Given the description of an element on the screen output the (x, y) to click on. 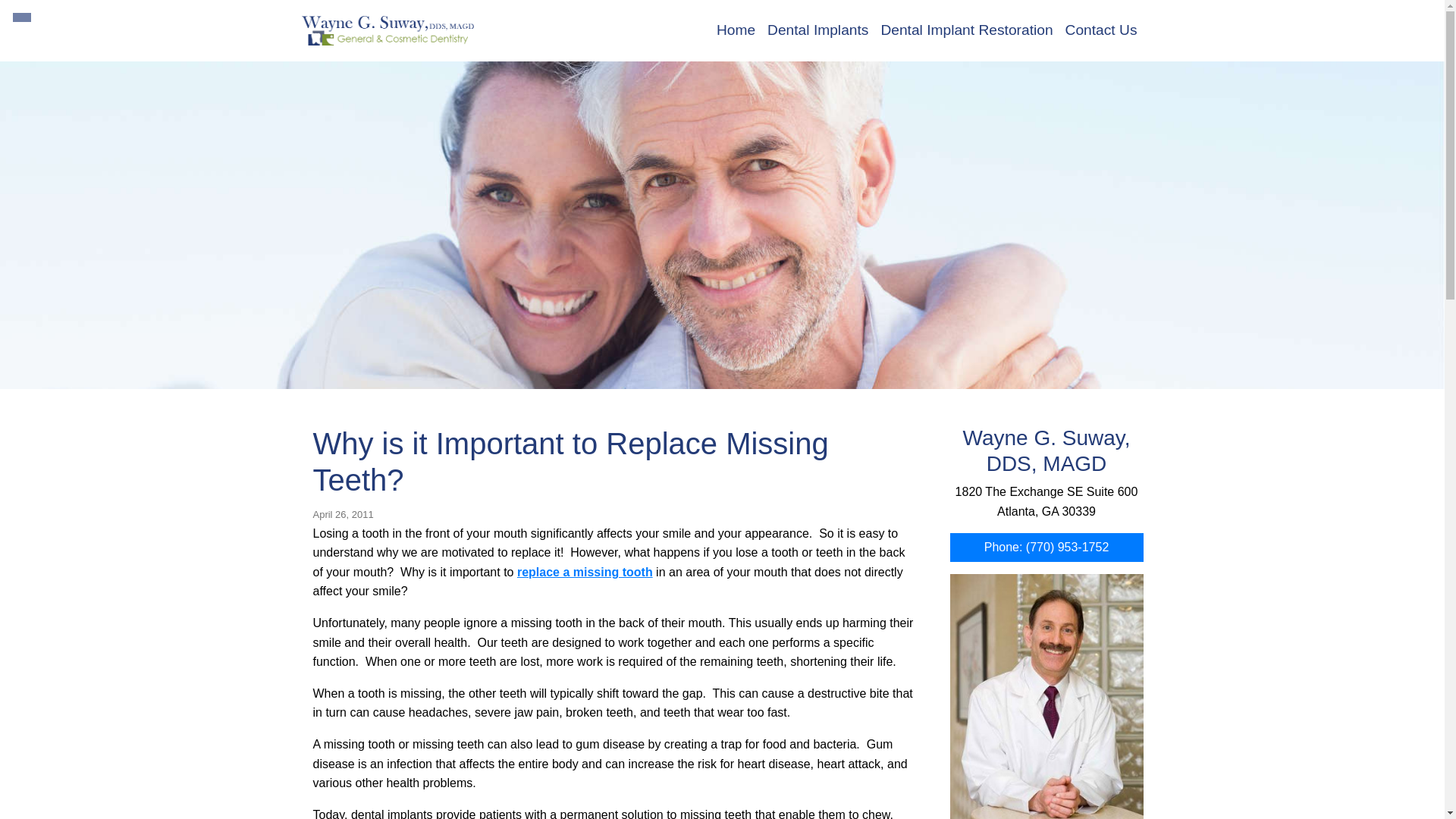
replace a missing tooth (584, 571)
Contact Us (1100, 30)
Skip to main content (10, 5)
Home (735, 30)
Dental Implant Restoration (966, 30)
Switch to High color contrast version of the website (21, 17)
replace a missing tooth (584, 571)
Dental Implants (818, 30)
